Given the description of an element on the screen output the (x, y) to click on. 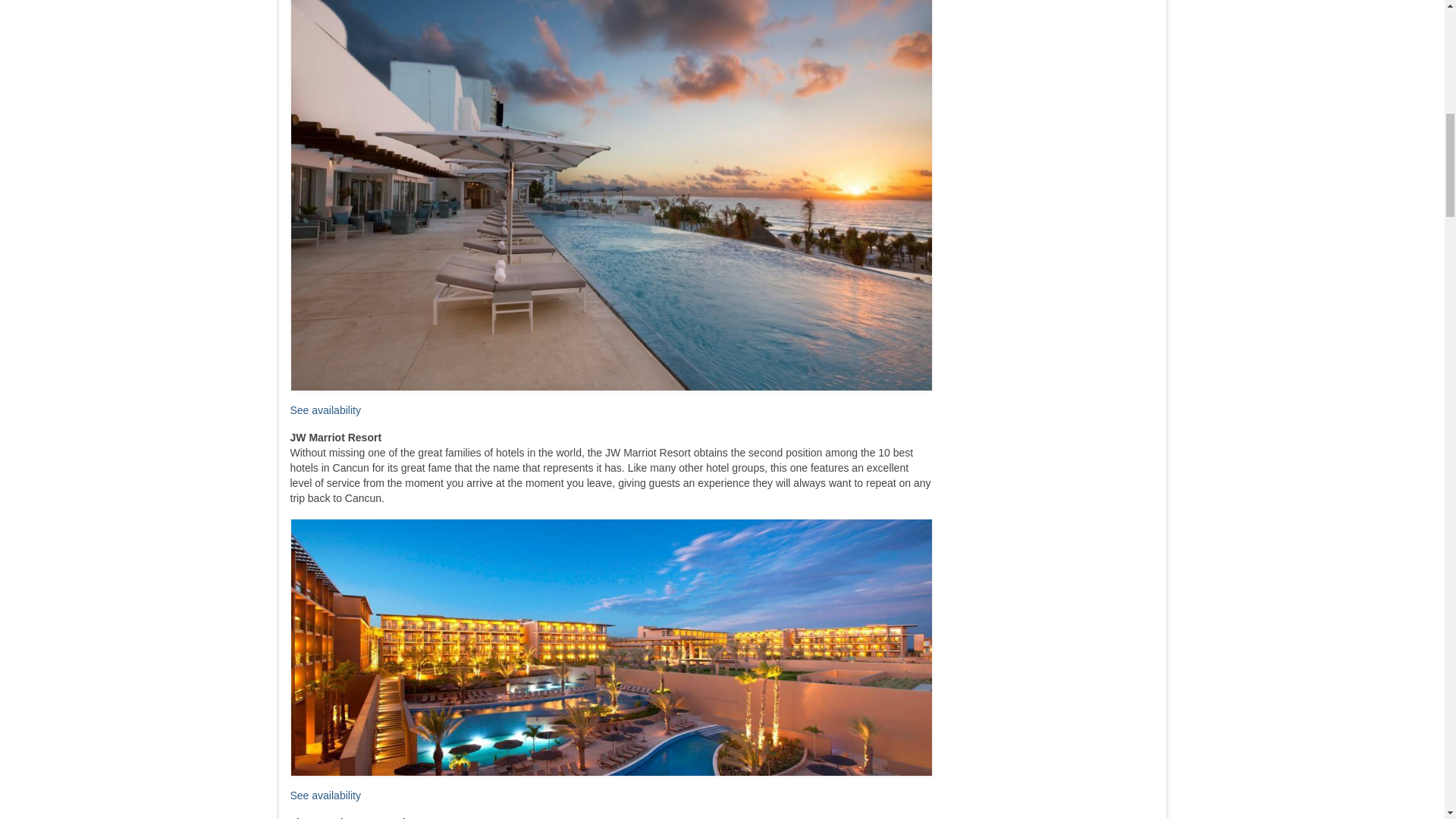
See availability (324, 410)
See availability (324, 795)
